Given the description of an element on the screen output the (x, y) to click on. 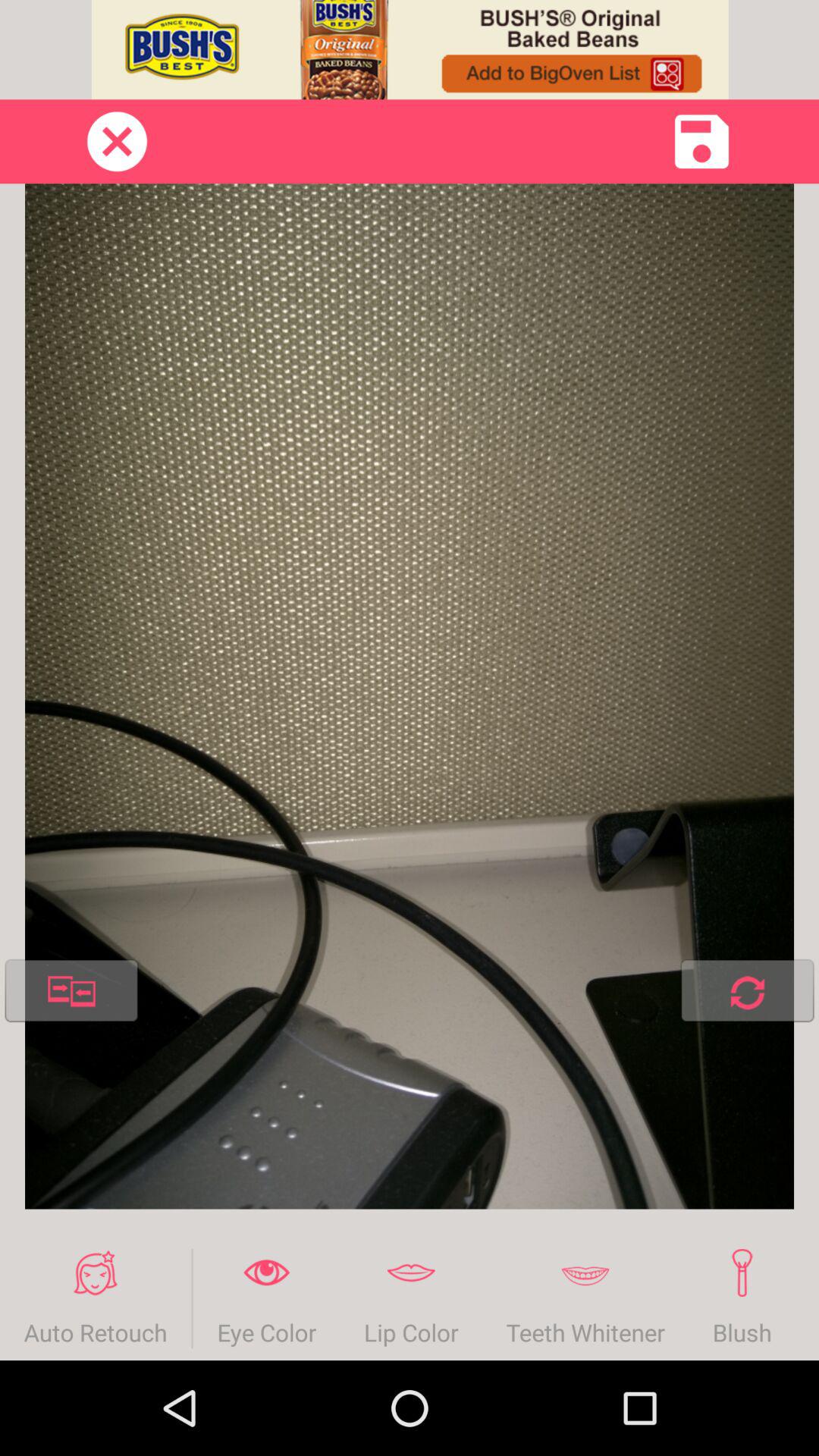
open the blush item (741, 1298)
